Given the description of an element on the screen output the (x, y) to click on. 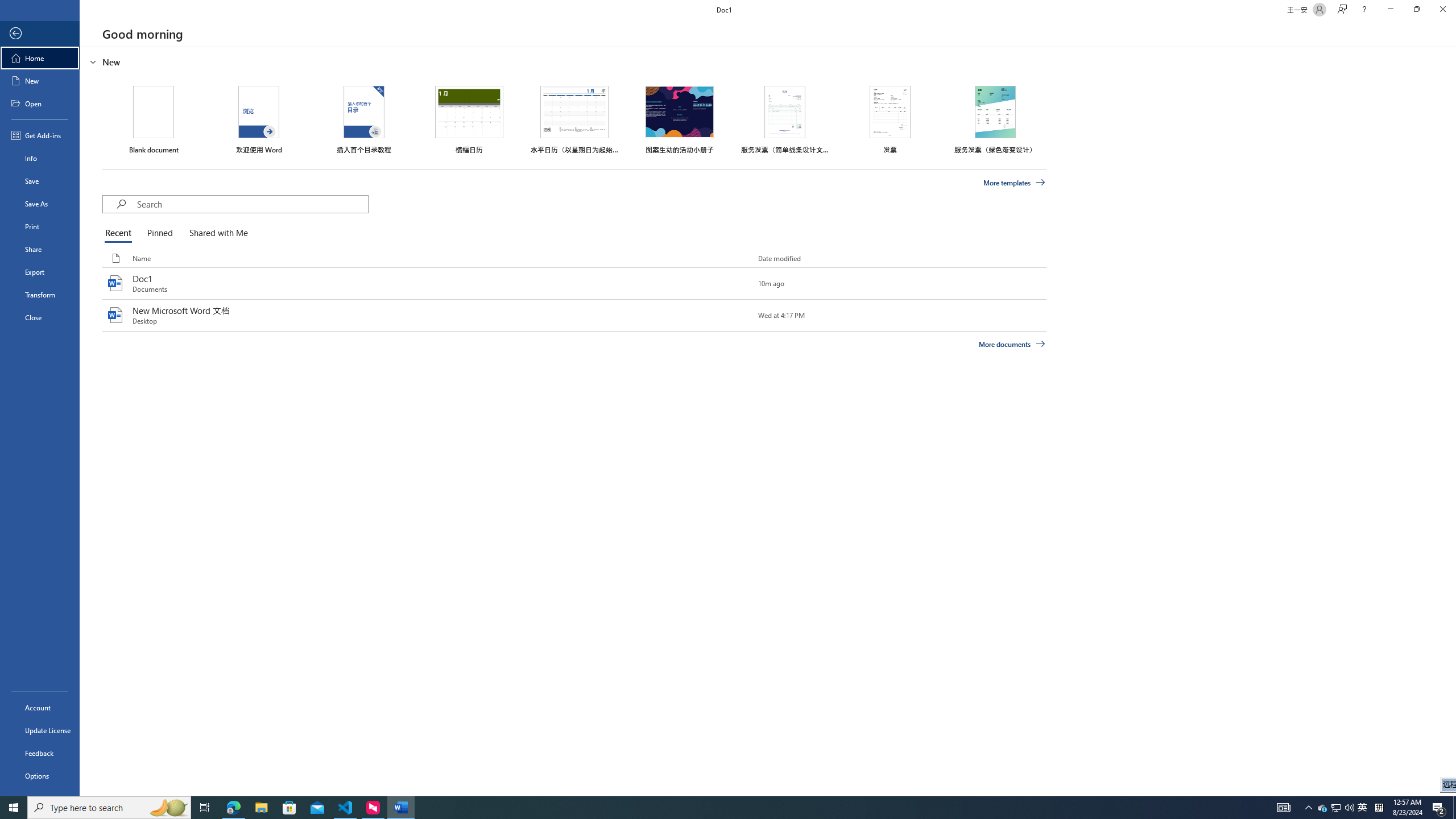
Hide or show region (92, 61)
Transform (40, 294)
Close (40, 317)
Minimize (1390, 9)
More documents (1011, 343)
Open (40, 102)
Get Add-ins (40, 134)
Options (40, 775)
Close (1442, 9)
Feedback (40, 753)
